Given the description of an element on the screen output the (x, y) to click on. 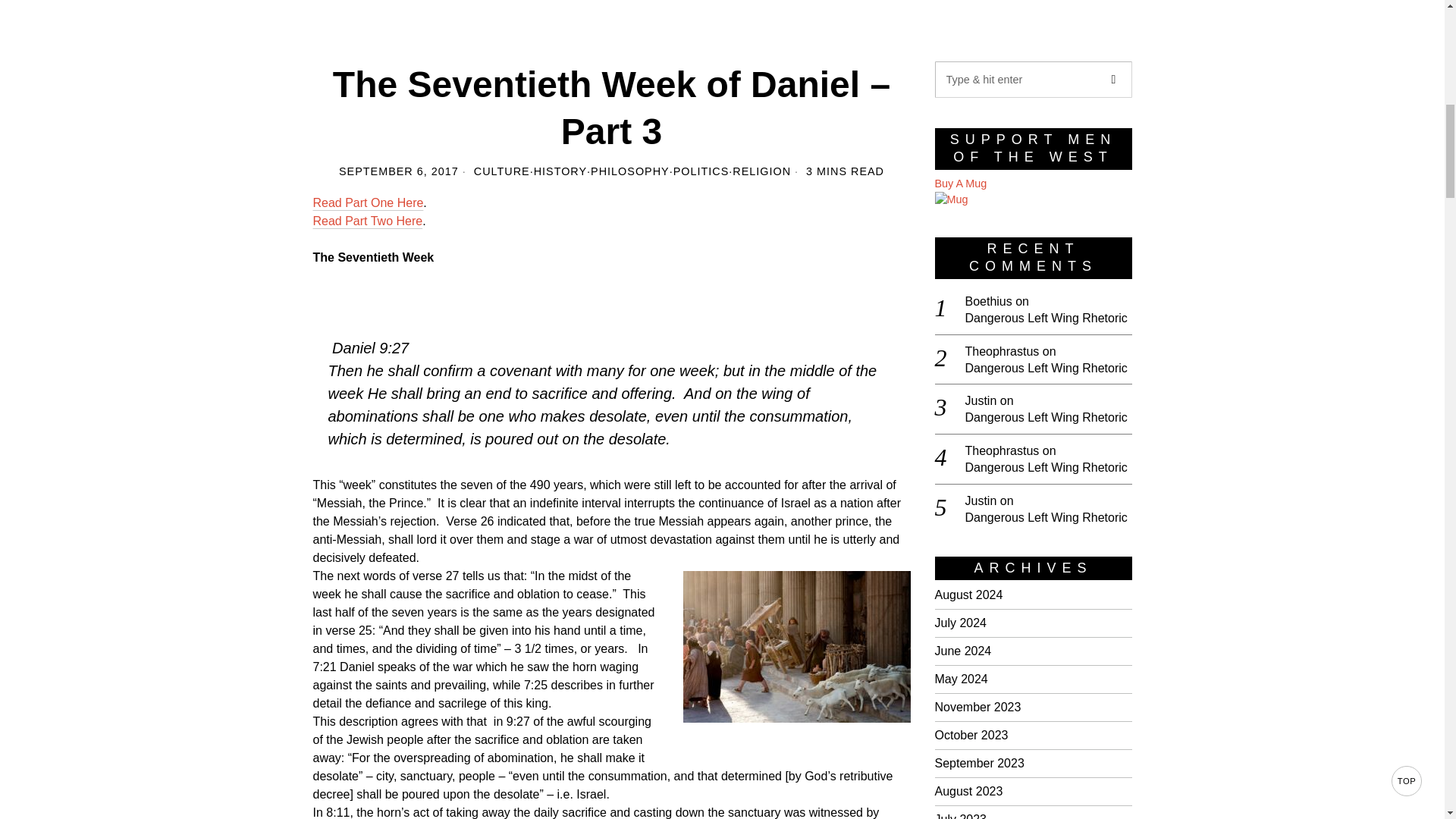
PHILOSOPHY (630, 171)
06 Sep, 2017 10:54:00 (398, 171)
Go (1112, 79)
Read Part One Here (368, 202)
Read Part Two Here (367, 220)
RELIGION (761, 171)
HISTORY (560, 171)
POLITICS (700, 171)
CULTURE (501, 171)
